Given the description of an element on the screen output the (x, y) to click on. 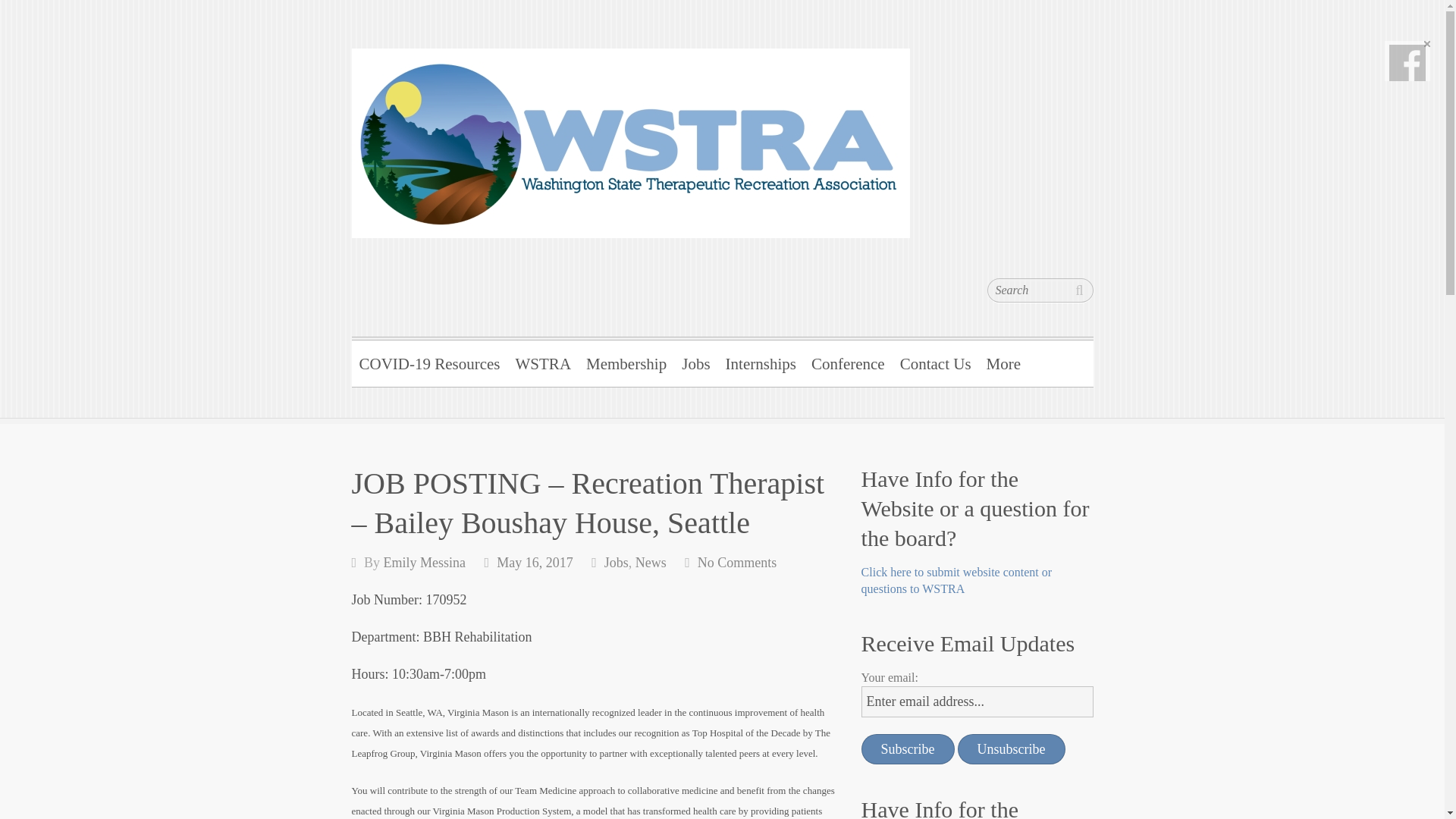
Jobs (616, 562)
WSTRA (482, 159)
Subscribe (908, 748)
No Comments (737, 562)
Contact Us (935, 361)
Internships (760, 361)
Membership (626, 361)
Visit Our Facebook Page! (1407, 63)
More (1003, 361)
Unsubscribe (1011, 748)
